Given the description of an element on the screen output the (x, y) to click on. 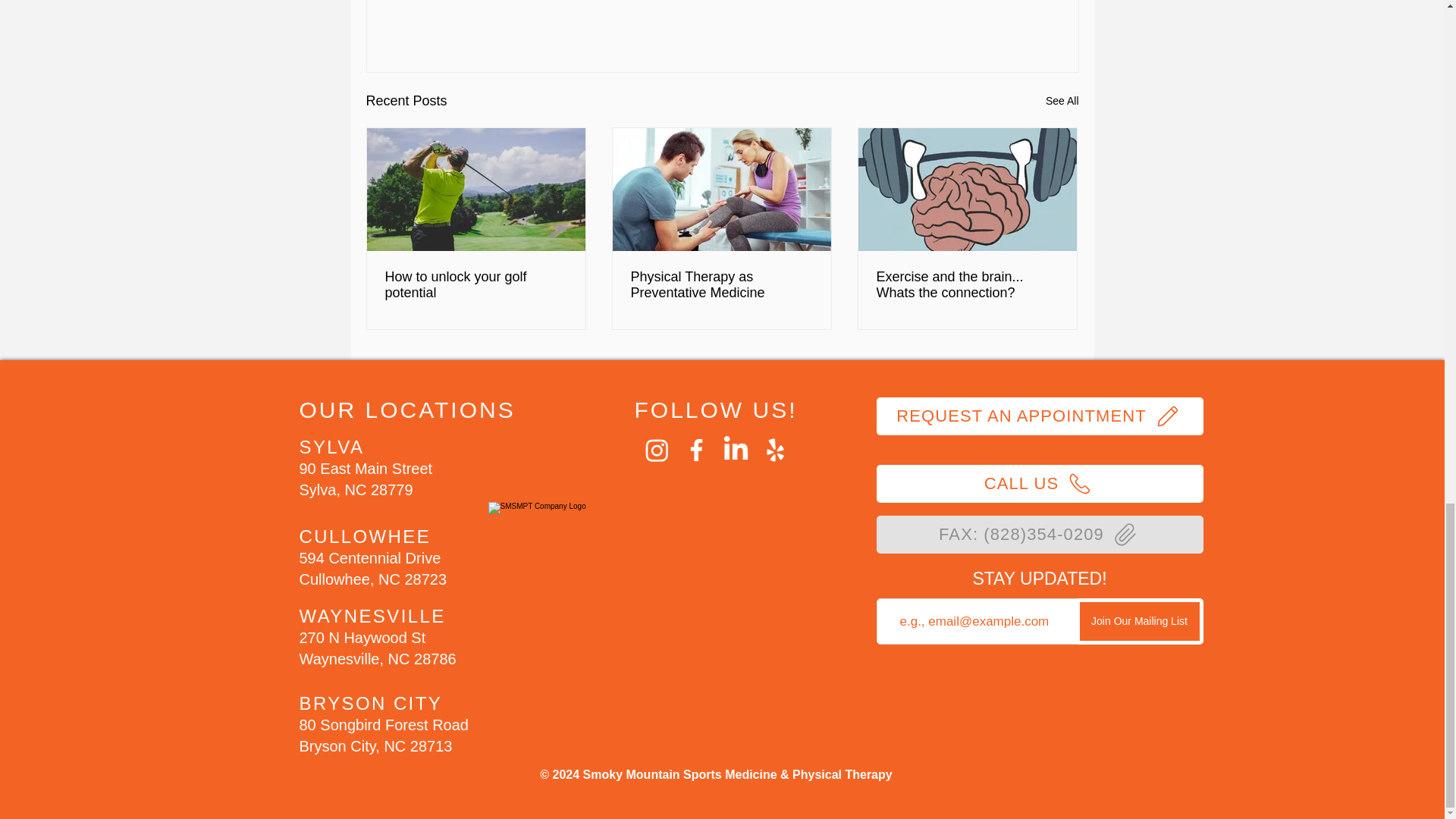
How to unlock your golf potential (476, 285)
See All (1061, 101)
Physical Therapy as Preventative Medicine (721, 285)
Join Our Mailing List (1138, 621)
Exercise and the brain... Whats the connection? (967, 285)
CALL US (1040, 483)
REQUEST AN APPOINTMENT (1040, 415)
